Given the description of an element on the screen output the (x, y) to click on. 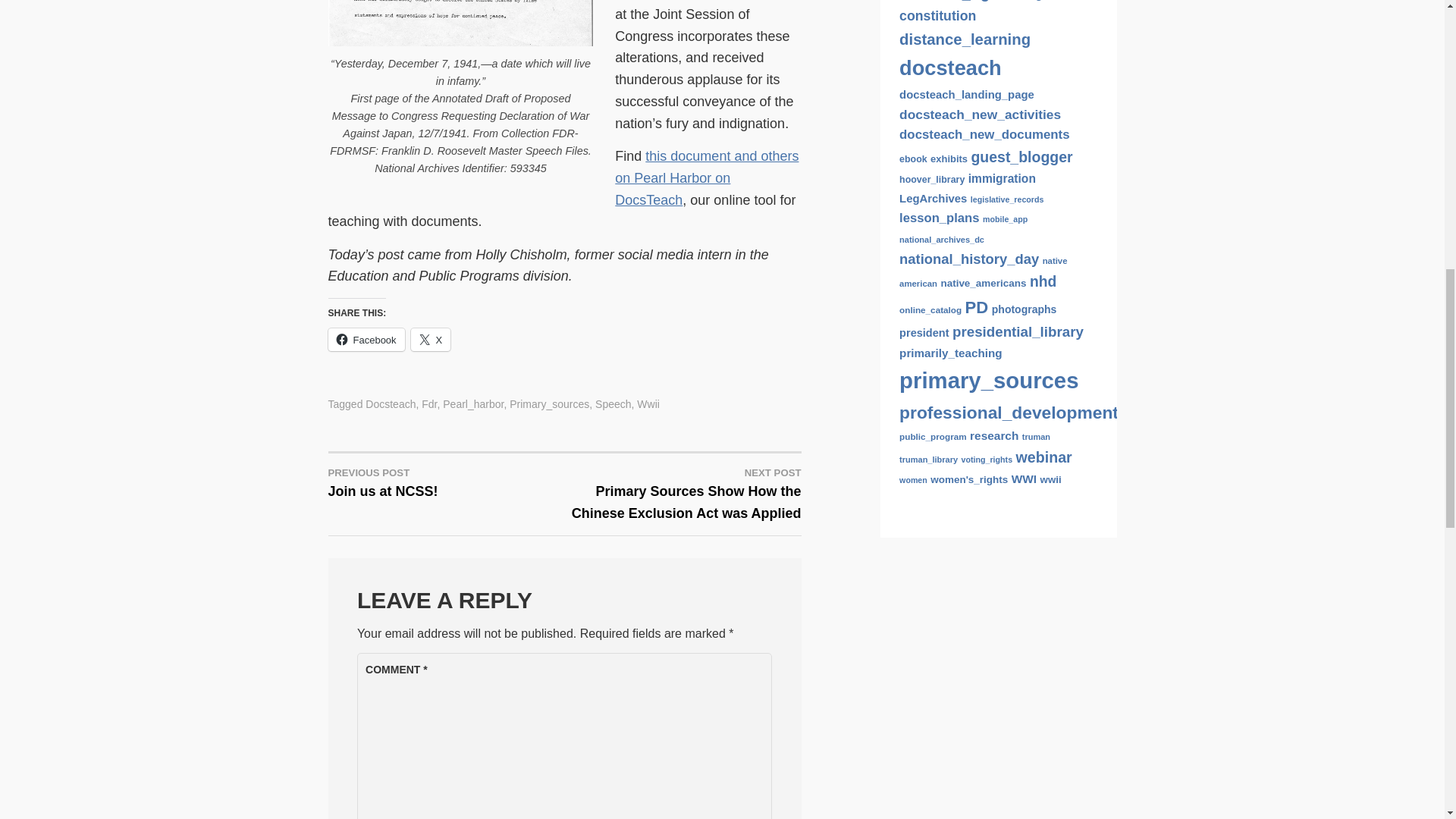
Fdr (429, 404)
Click to share on Facebook (365, 339)
this document and others on Pearl Harbor on DocsTeach (705, 178)
Docsteach (389, 404)
Speech (612, 404)
ebook (913, 158)
X (430, 339)
